Given the description of an element on the screen output the (x, y) to click on. 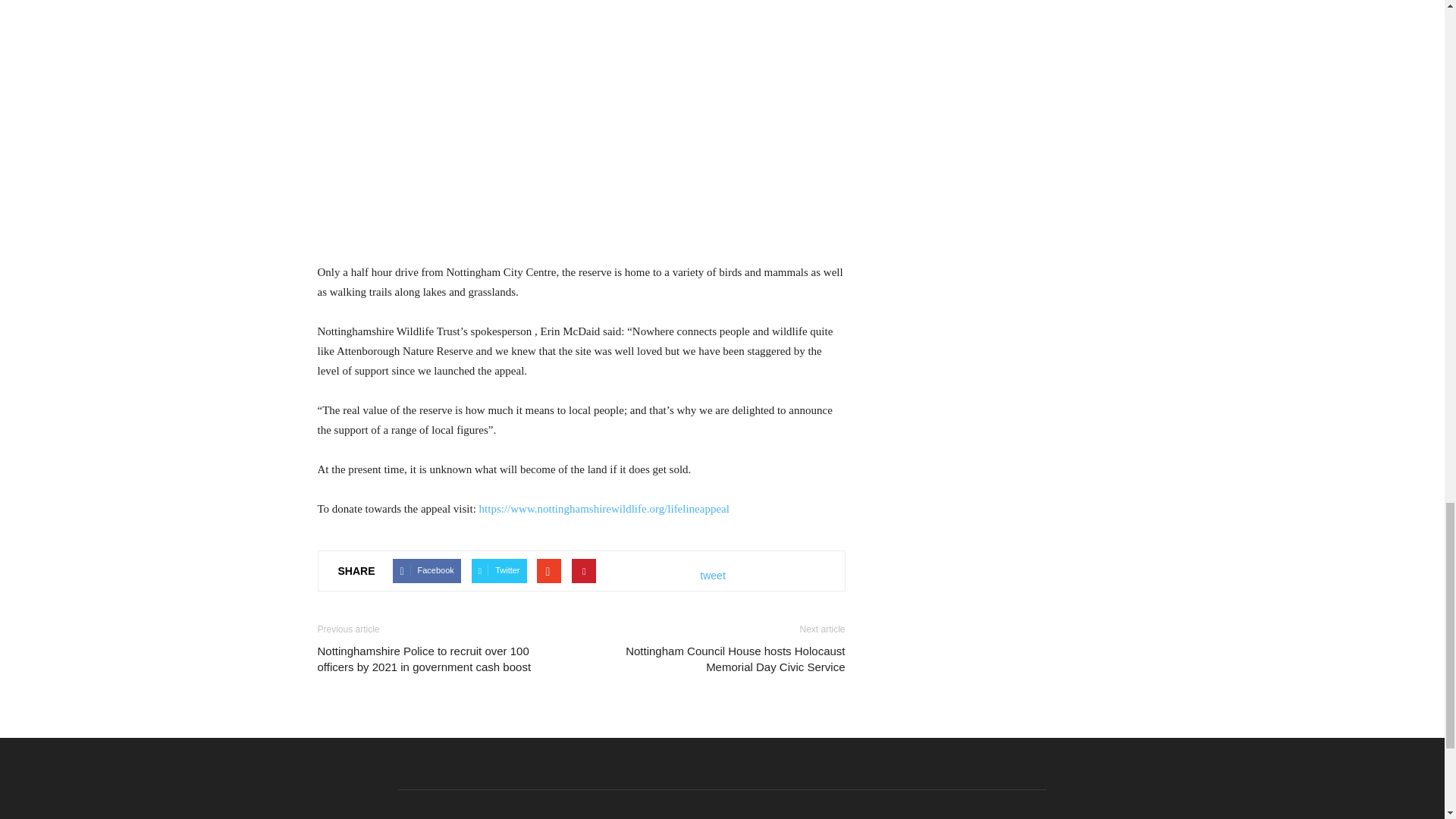
Twitter (499, 571)
Facebook (426, 571)
tweet (712, 576)
